Given the description of an element on the screen output the (x, y) to click on. 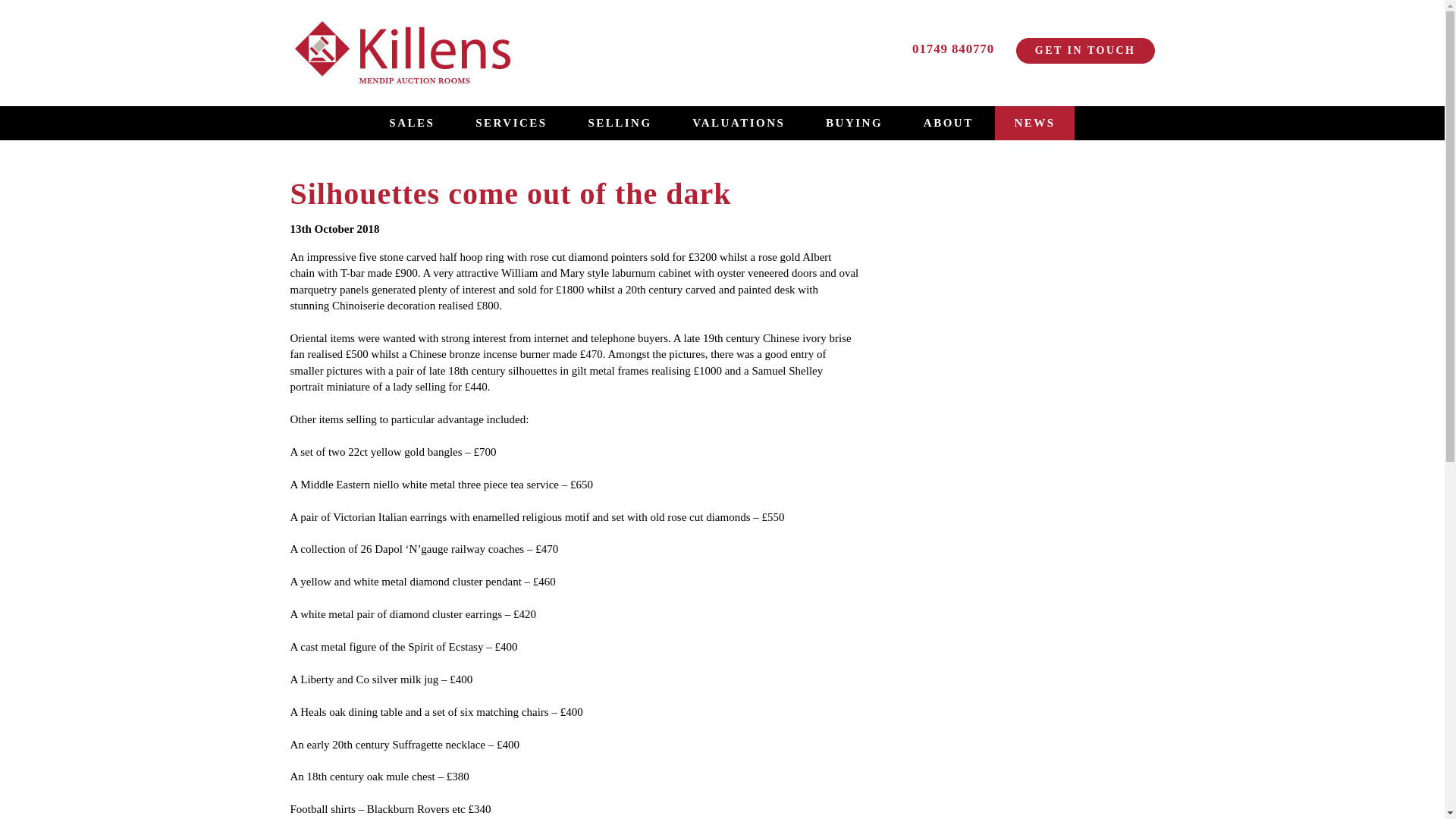
BUYING (853, 123)
01749 840770 (962, 49)
SELLING (619, 123)
VALUATIONS (737, 123)
SERVICES (511, 123)
GET IN TOUCH (1085, 50)
SALES (410, 123)
NEWS (1034, 123)
ABOUT (948, 123)
